Given the description of an element on the screen output the (x, y) to click on. 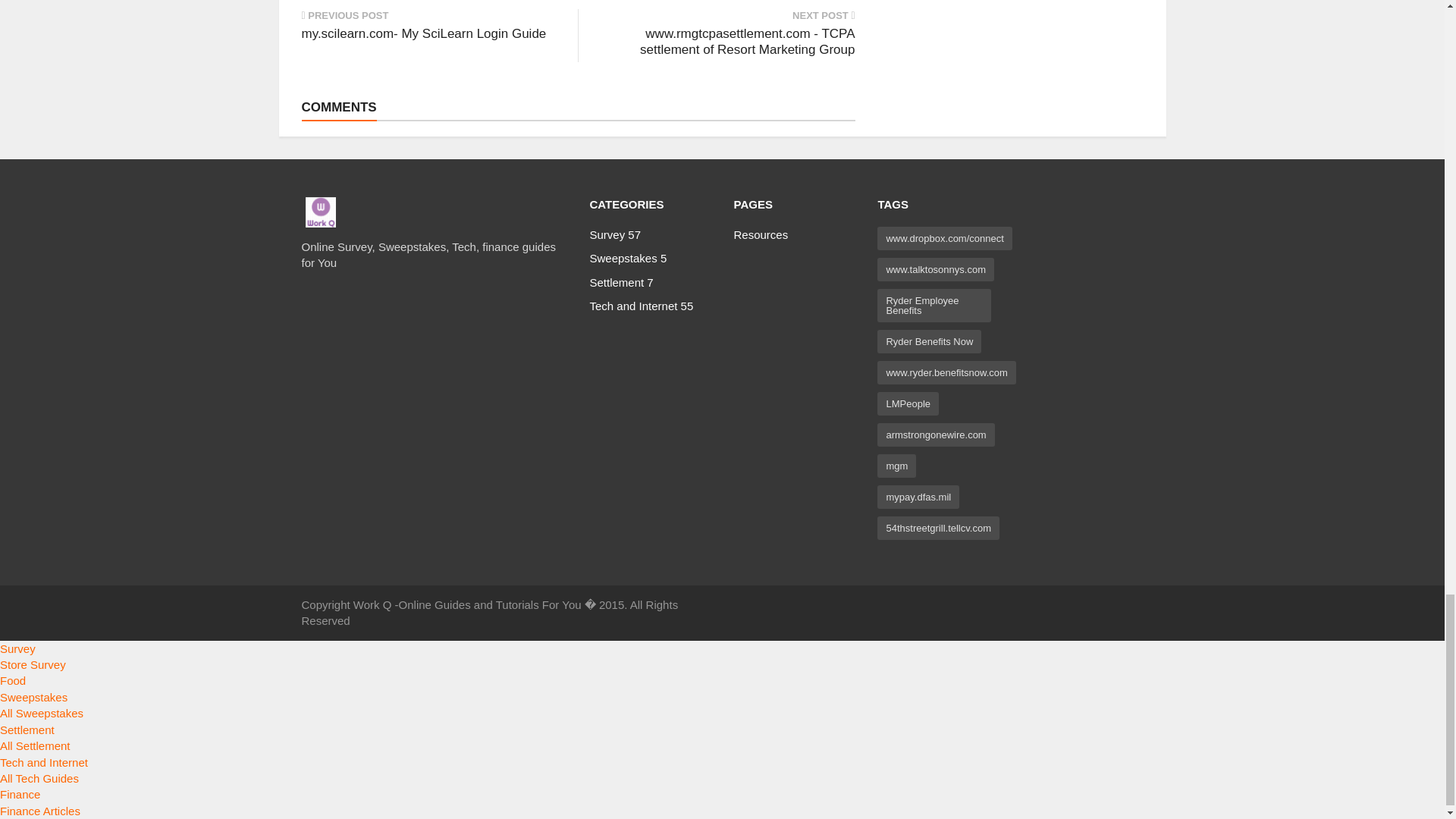
Work Q -Online Guides and Tutorials For You (319, 212)
my.scilearn.com- My SciLearn Login Guide (427, 33)
